Given the description of an element on the screen output the (x, y) to click on. 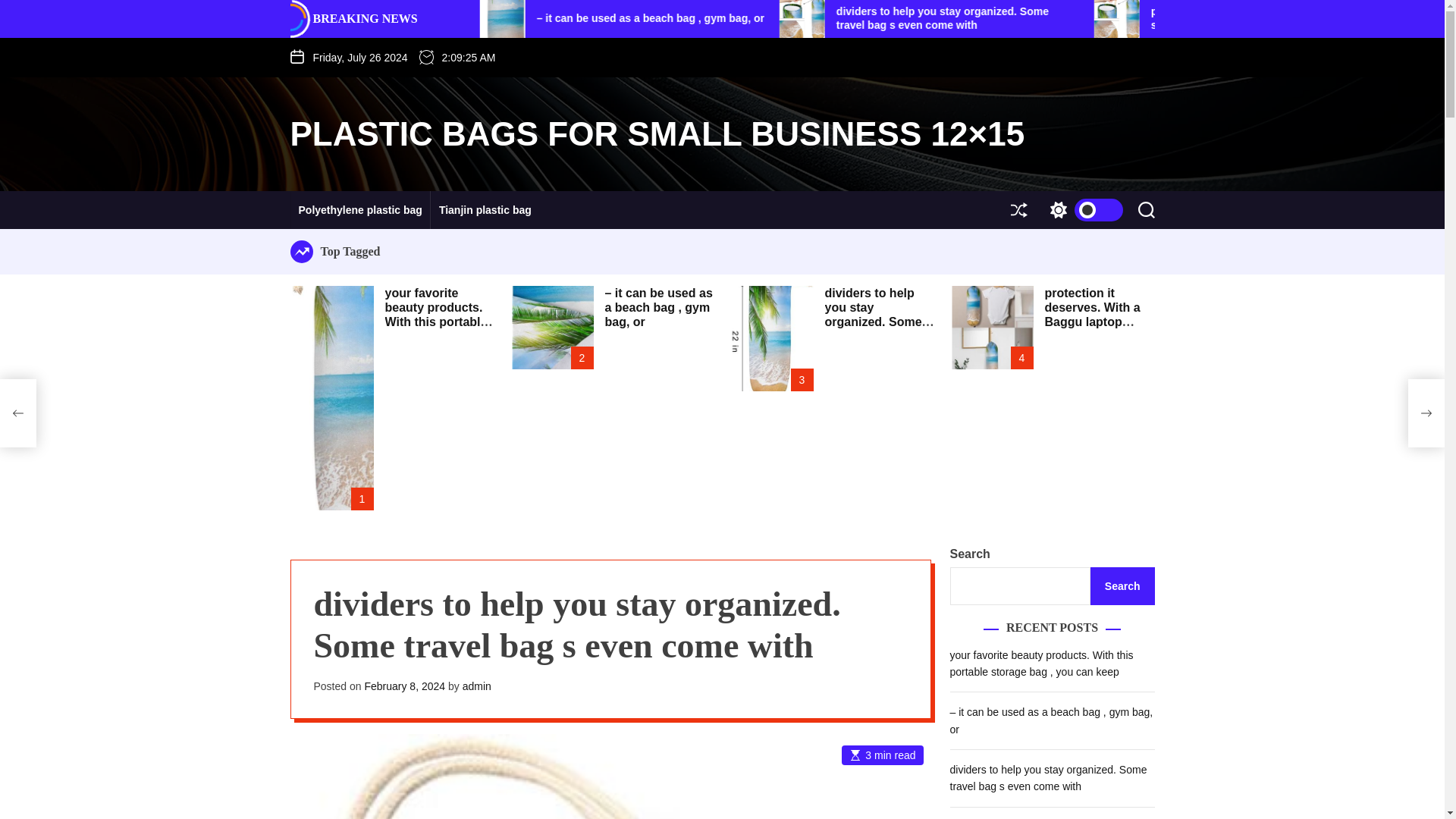
Tianjin plastic bag (484, 209)
Polyethylene plastic bag (359, 209)
